Given the description of an element on the screen output the (x, y) to click on. 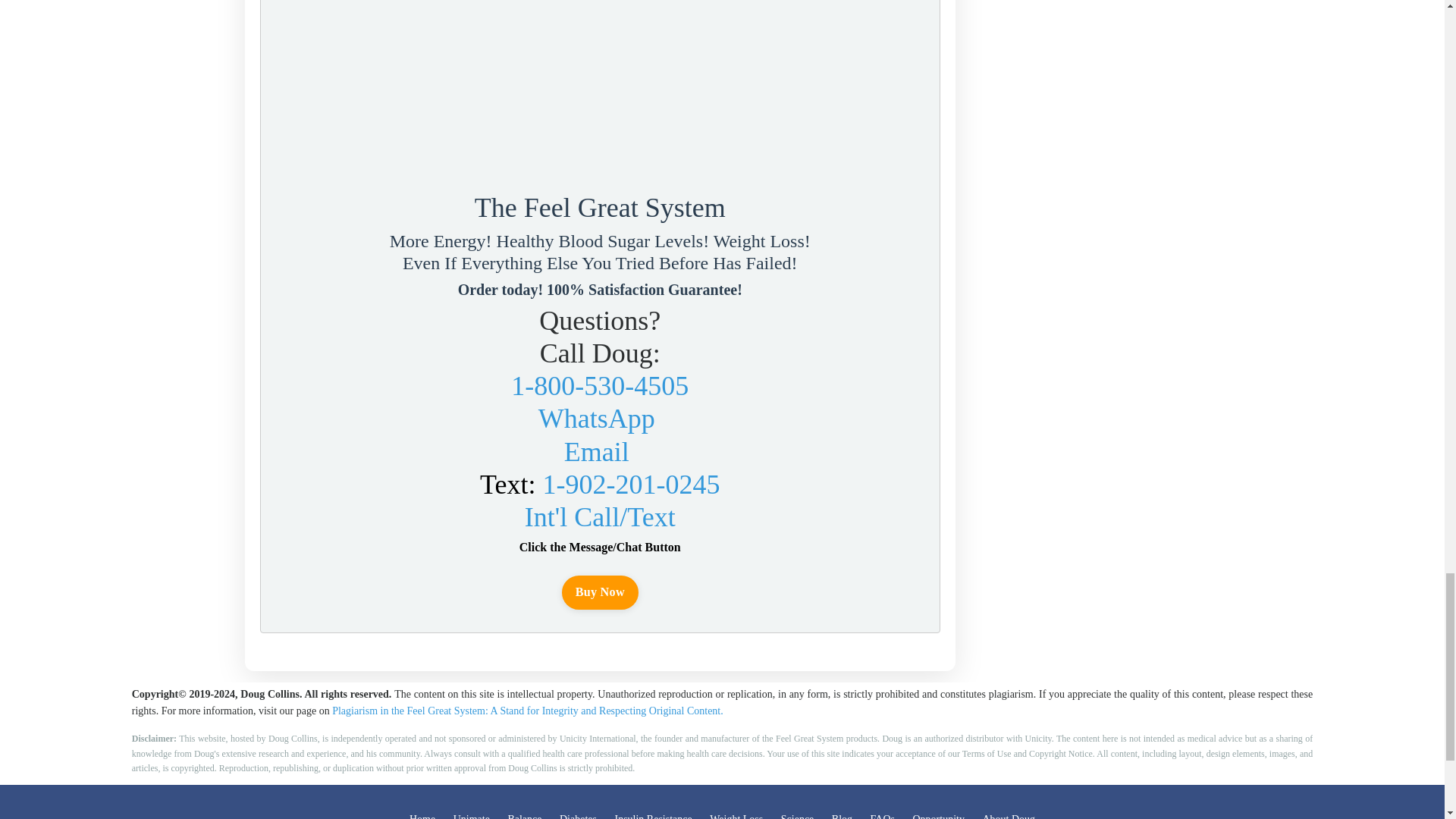
Text: 1-902-201-0245 (599, 484)
Buy Now (600, 592)
Email (596, 451)
1-800-530-4505 (599, 386)
WhatsApp (596, 418)
